Given the description of an element on the screen output the (x, y) to click on. 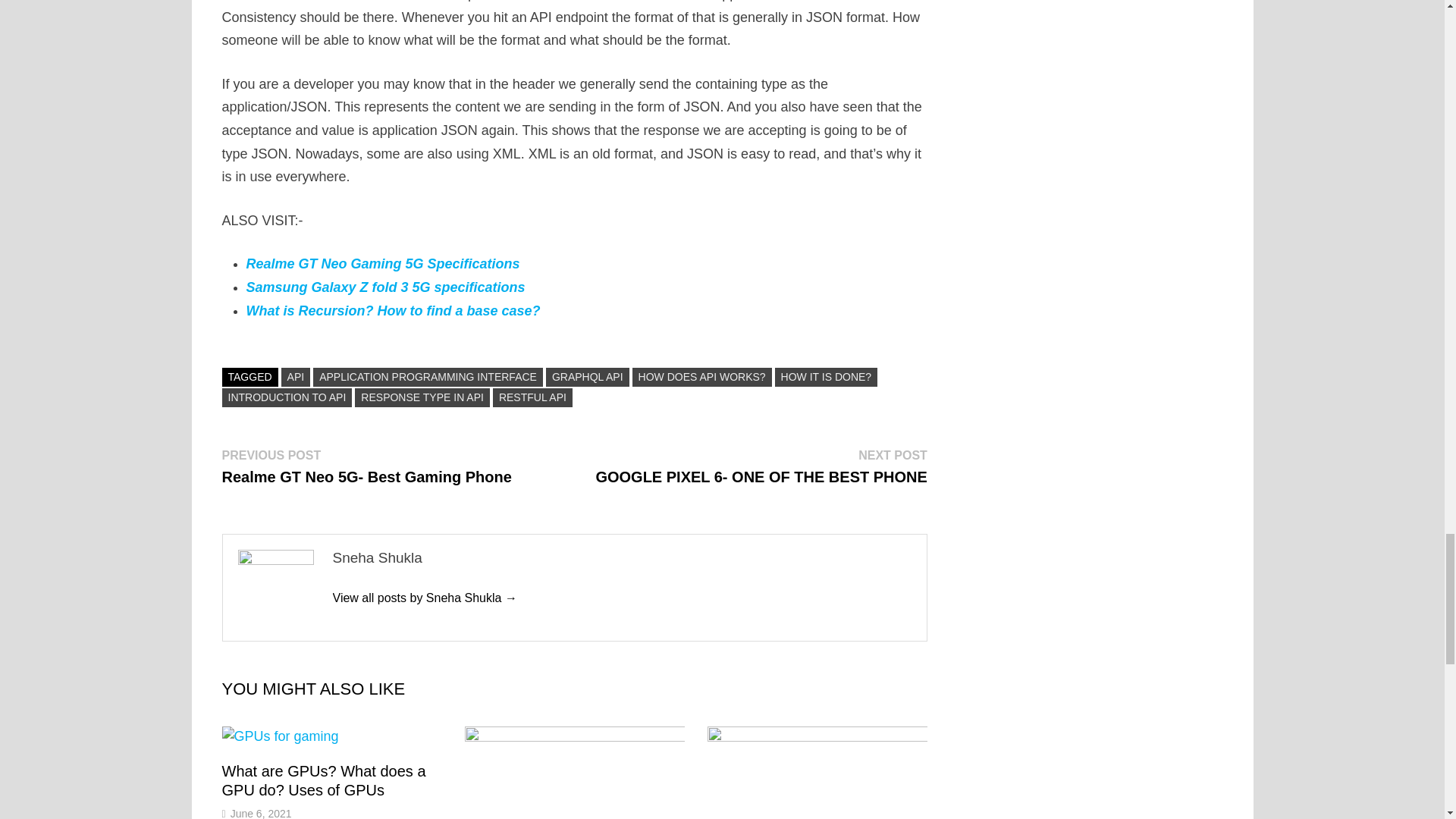
Realme GT Neo Gaming 5G Specifications (382, 263)
API (296, 376)
What is Recursion? How to find a base case? (393, 310)
Sneha Shukla (423, 597)
What are GPUs? What does a GPU do? Uses of GPUs (323, 780)
Samsung Galaxy Z fold 3 5G specifications (385, 287)
